Given the description of an element on the screen output the (x, y) to click on. 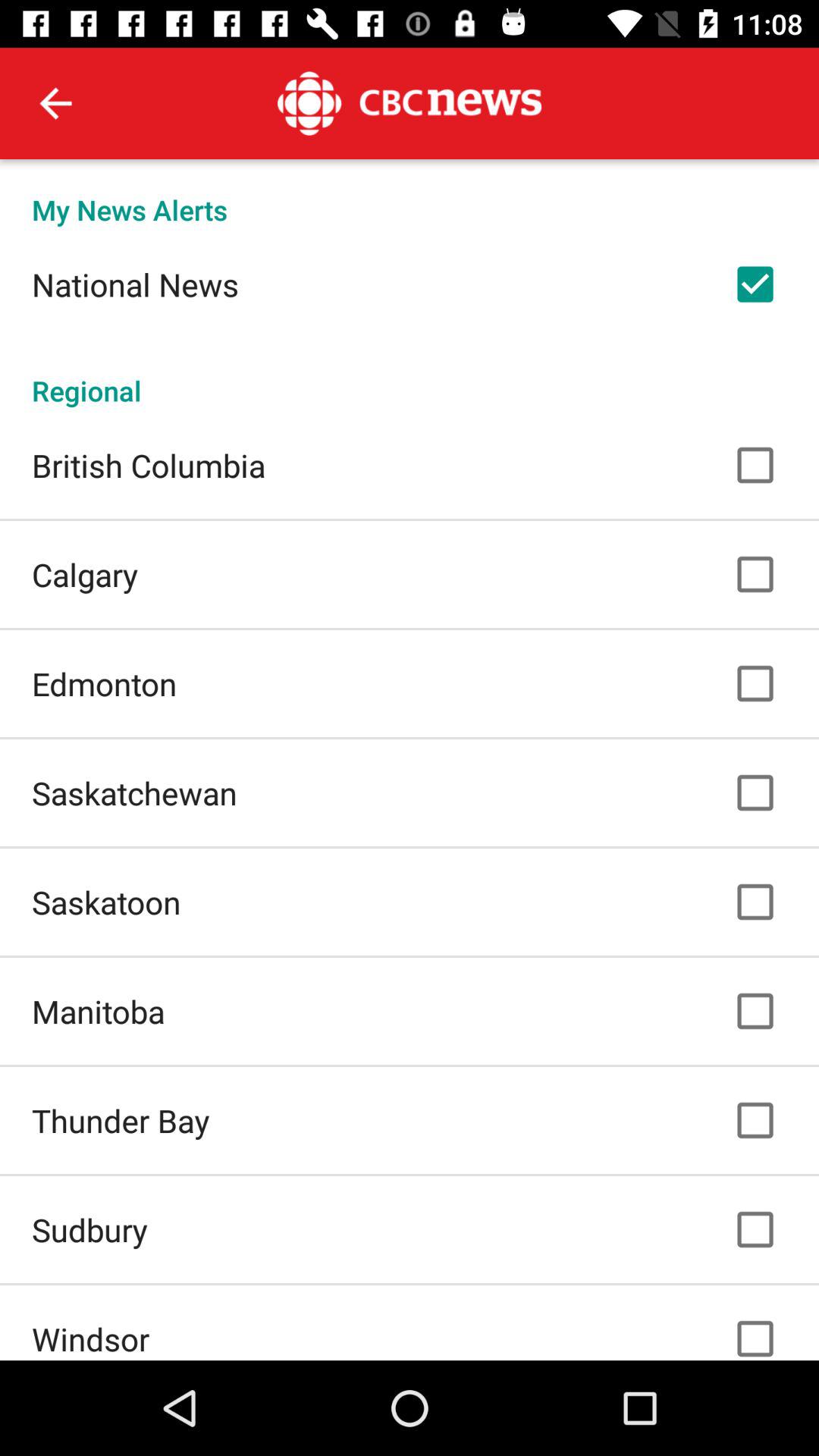
swipe until british columbia (148, 464)
